Given the description of an element on the screen output the (x, y) to click on. 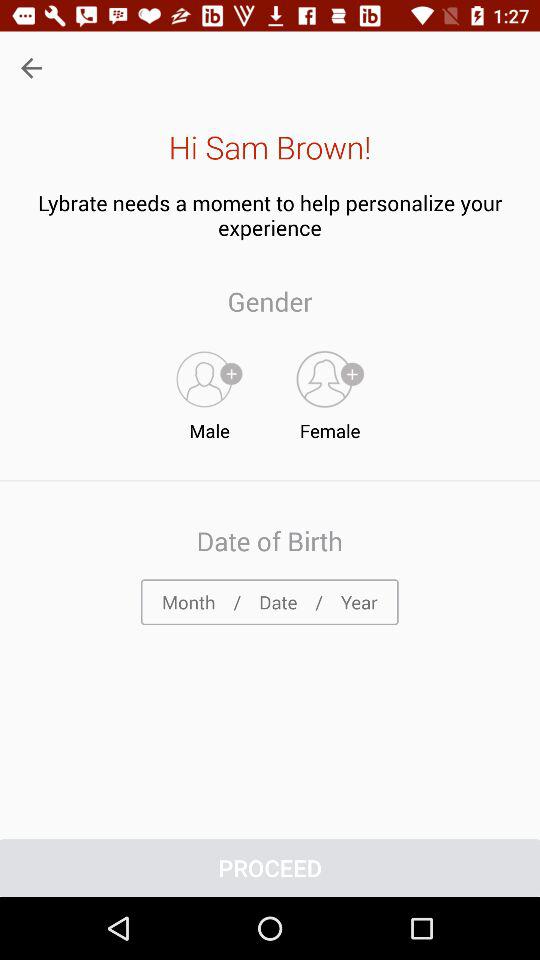
scroll until the female icon (329, 391)
